Given the description of an element on the screen output the (x, y) to click on. 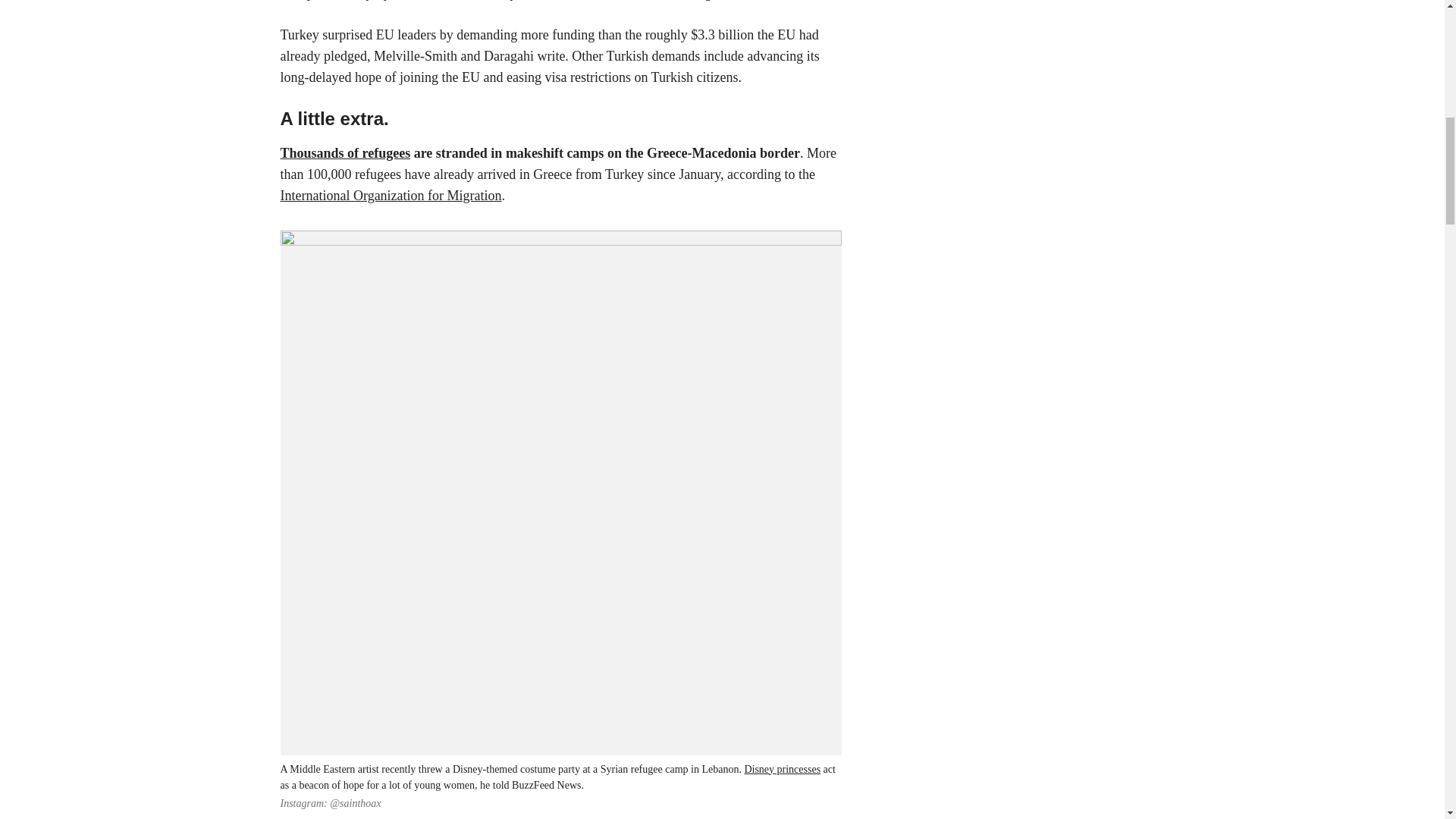
Thousands of refugees (345, 152)
International Organization for Migration (391, 195)
Disney princesses (782, 768)
